Given the description of an element on the screen output the (x, y) to click on. 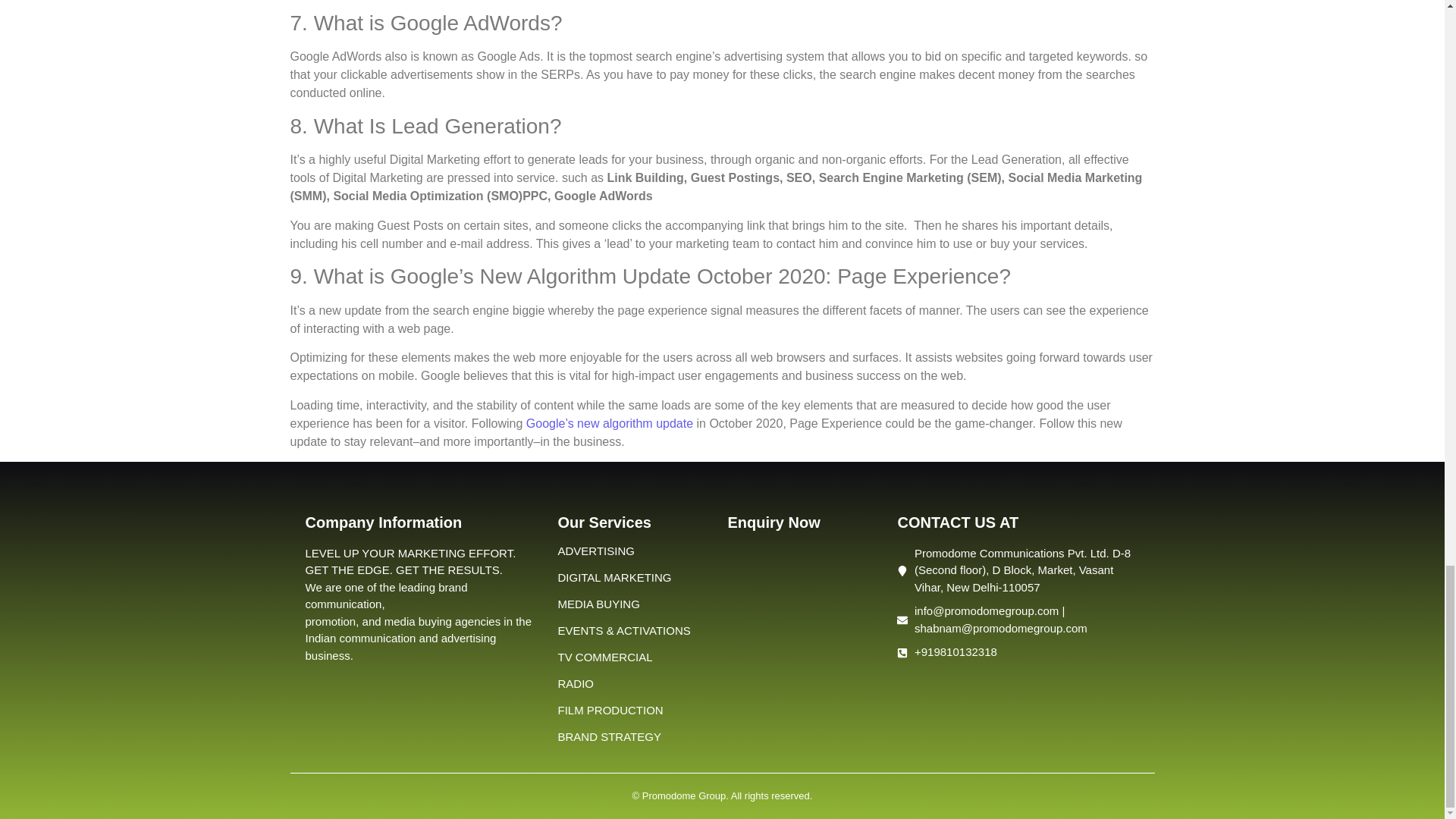
TV COMMERCIAL (604, 656)
DIGITAL MARKETING (614, 576)
BRAND STRATEGY (609, 736)
MEDIA BUYING (598, 603)
RADIO (575, 683)
FILM PRODUCTION (609, 709)
ADVERTISING (595, 550)
